Given the description of an element on the screen output the (x, y) to click on. 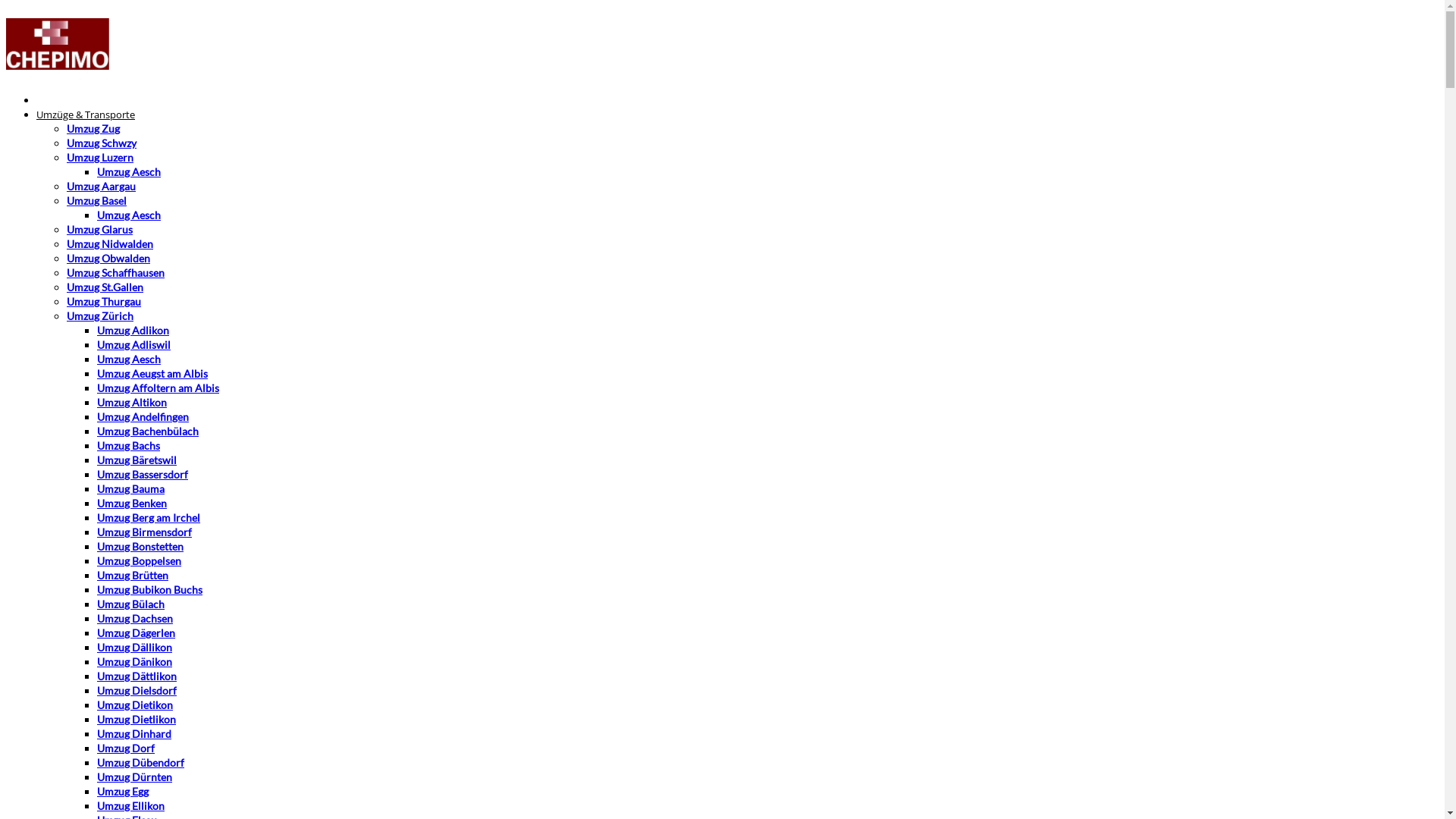
Umzug Bonstetten Element type: text (140, 545)
Umzug Luzern Element type: text (99, 156)
Umzug Dietikon Element type: text (134, 704)
Umzug Schwzy Element type: text (101, 142)
Umzug Basel Element type: text (96, 200)
Umzug Glarus Element type: text (99, 228)
Umzug St.Gallen Element type: text (104, 286)
Umzug Adliswil Element type: text (133, 344)
Umzug Dachsen Element type: text (134, 617)
Umzug Bachs Element type: text (128, 445)
Umzug Aeugst am Albis Element type: text (152, 373)
Umzug Aargau Element type: text (100, 185)
Umzug Andelfingen Element type: text (142, 416)
Umzug Nidwalden Element type: text (109, 243)
Umzug Ellikon Element type: text (130, 805)
Umzug Bauma Element type: text (130, 488)
Umzug Dinhard Element type: text (134, 733)
Umzug Berg am Irchel Element type: text (148, 517)
Umzug Altikon Element type: text (131, 401)
Umzug Adlikon Element type: text (133, 329)
Umzug Aesch Element type: text (128, 358)
Umzug Aesch Element type: text (128, 171)
Startseite Element type: text (57, 99)
Umzug Bassersdorf Element type: text (142, 473)
Umzug Benken Element type: text (131, 502)
Umzug Boppelsen Element type: text (139, 560)
Umzug Schaffhausen Element type: text (115, 272)
Umzug Egg Element type: text (122, 790)
Umzug Zug Element type: text (92, 128)
Umzug Dietlikon Element type: text (136, 718)
Umzug Dielsdorf Element type: text (136, 690)
Umzug Dorf Element type: text (125, 747)
Umzug Bubikon Buchs Element type: text (149, 589)
Umzug Obwalden Element type: text (108, 257)
Umzug Birmensdorf Element type: text (144, 531)
Umzug Thurgau Element type: text (103, 300)
Umzug Aesch Element type: text (128, 214)
Umzug Affoltern am Albis Element type: text (158, 387)
